Given the description of an element on the screen output the (x, y) to click on. 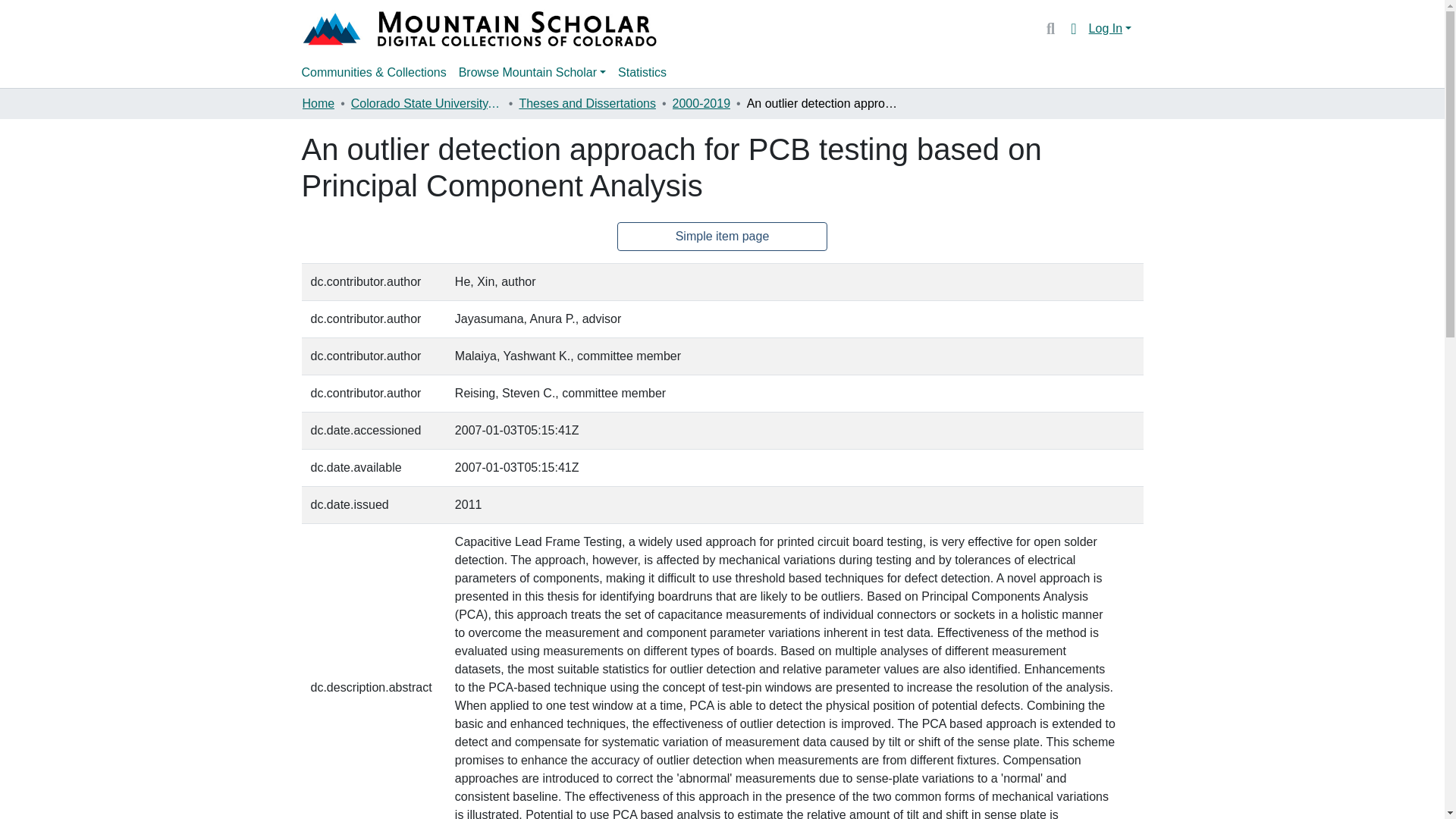
Search (1050, 28)
Language switch (1073, 28)
Theses and Dissertations (587, 104)
Colorado State University, Fort Collins (426, 104)
Browse Mountain Scholar (531, 72)
Statistics (641, 72)
2000-2019 (701, 104)
Home (317, 104)
Simple item page (722, 235)
Log In (1110, 28)
Statistics (641, 72)
